Given the description of an element on the screen output the (x, y) to click on. 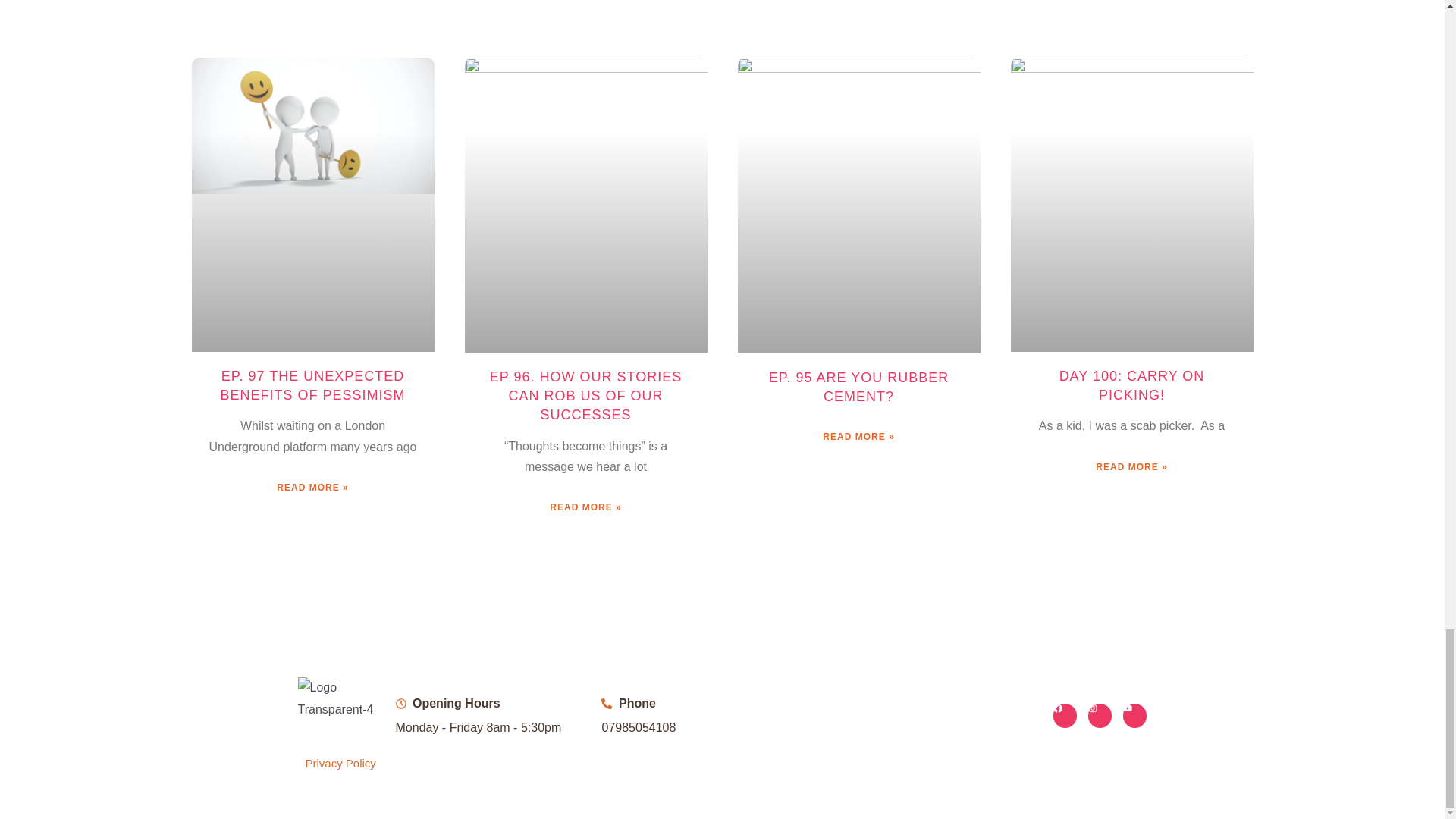
EP. 97 THE UNEXPECTED BENEFITS OF PESSIMISM (311, 385)
Logo Transparent-4 (338, 699)
EP. 95 ARE YOU RUBBER CEMENT? (858, 387)
EP 96. HOW OUR STORIES CAN ROB US OF OUR SUCCESSES (585, 395)
